Given the description of an element on the screen output the (x, y) to click on. 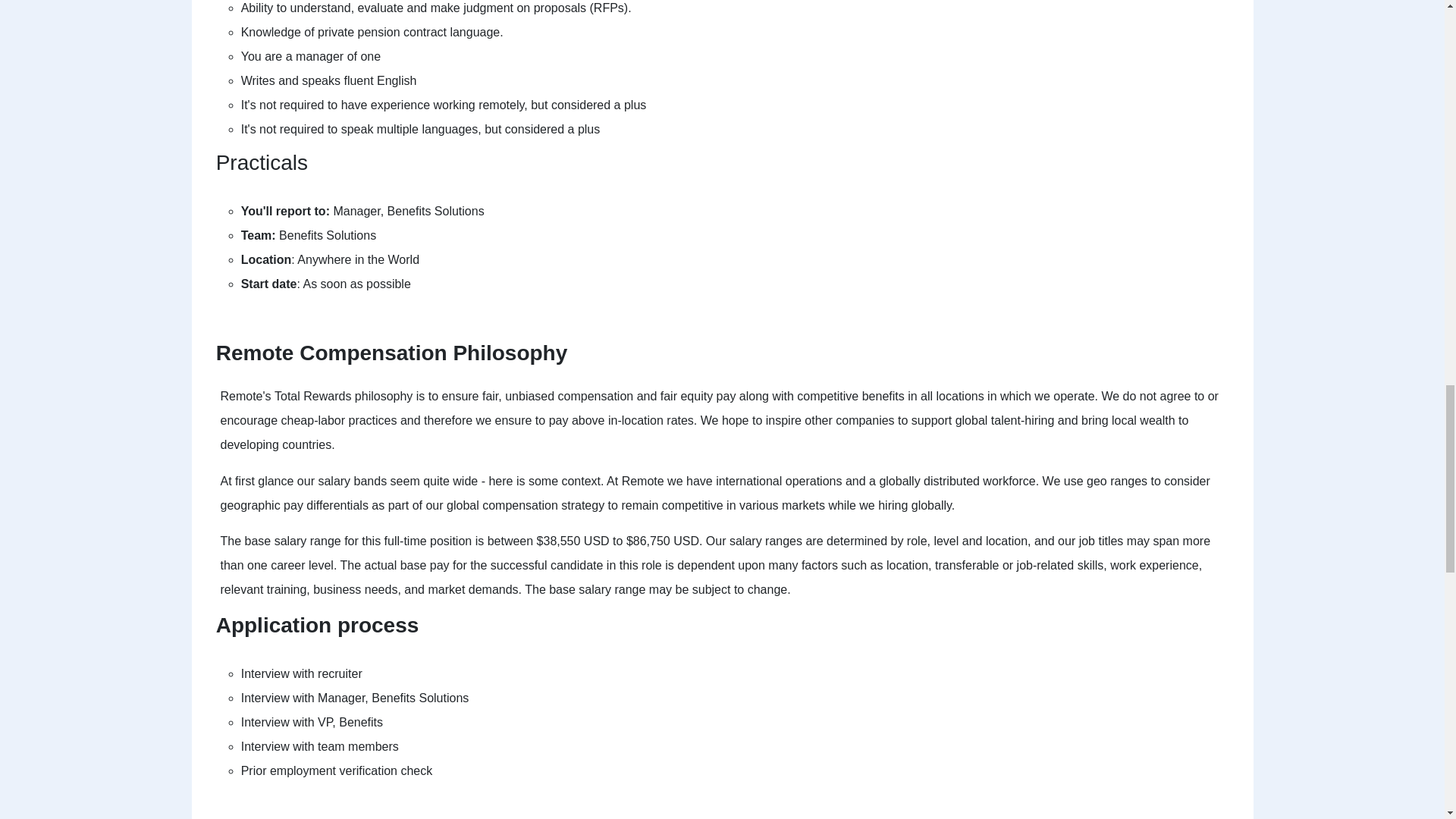
Prior employment verification check (336, 770)
Total Rewards philosophy (343, 395)
manager of one (337, 56)
